Given the description of an element on the screen output the (x, y) to click on. 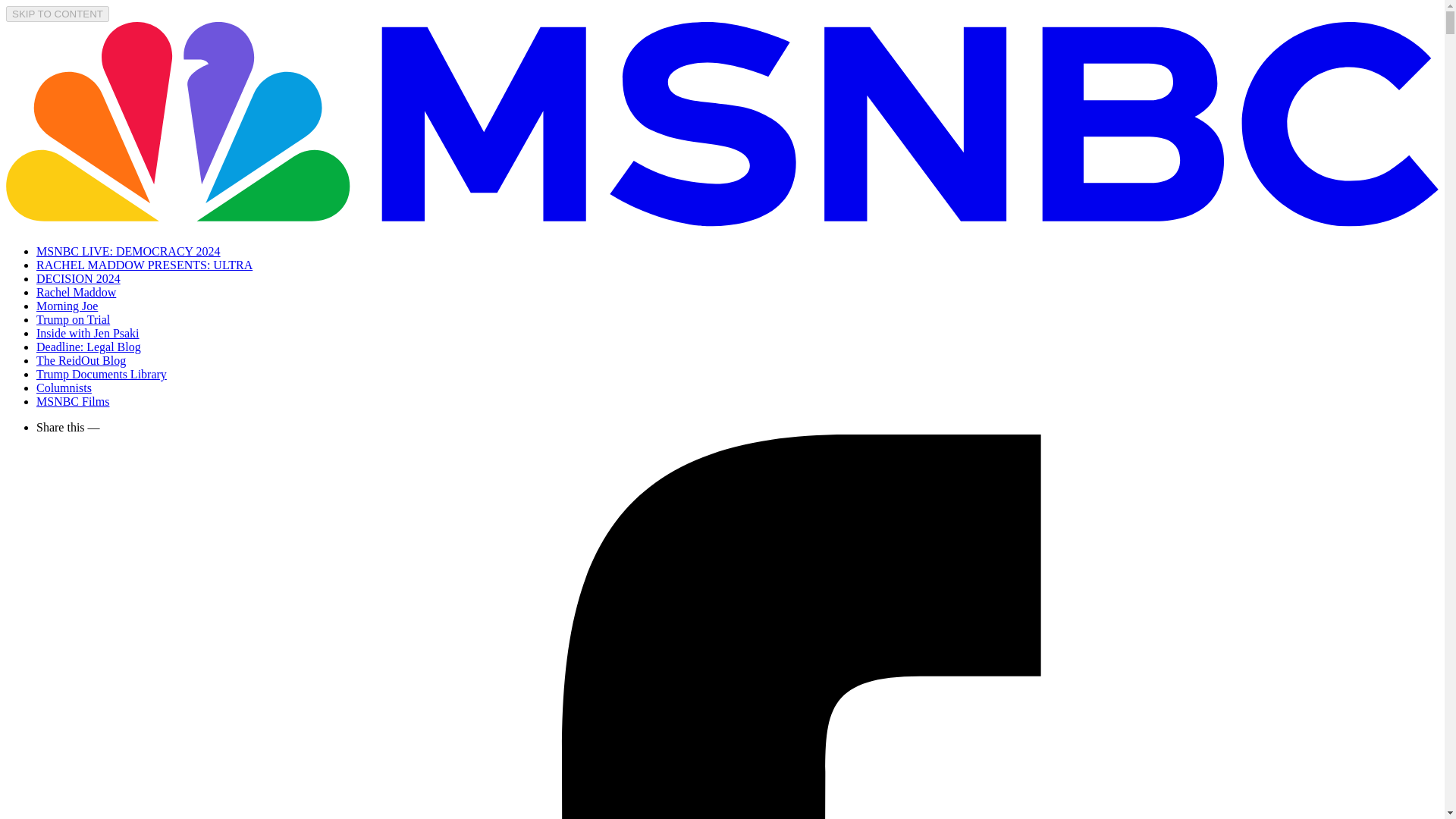
Trump Documents Library (101, 373)
RACHEL MADDOW PRESENTS: ULTRA (143, 264)
Columnists (63, 387)
MSNBC Films (72, 400)
Morning Joe (66, 305)
DECISION 2024 (78, 278)
Deadline: Legal Blog (88, 346)
Trump on Trial (73, 318)
SKIP TO CONTENT (57, 13)
MSNBC LIVE: DEMOCRACY 2024 (128, 250)
The ReidOut Blog (80, 359)
Rachel Maddow (76, 291)
Inside with Jen Psaki (87, 332)
